Given the description of an element on the screen output the (x, y) to click on. 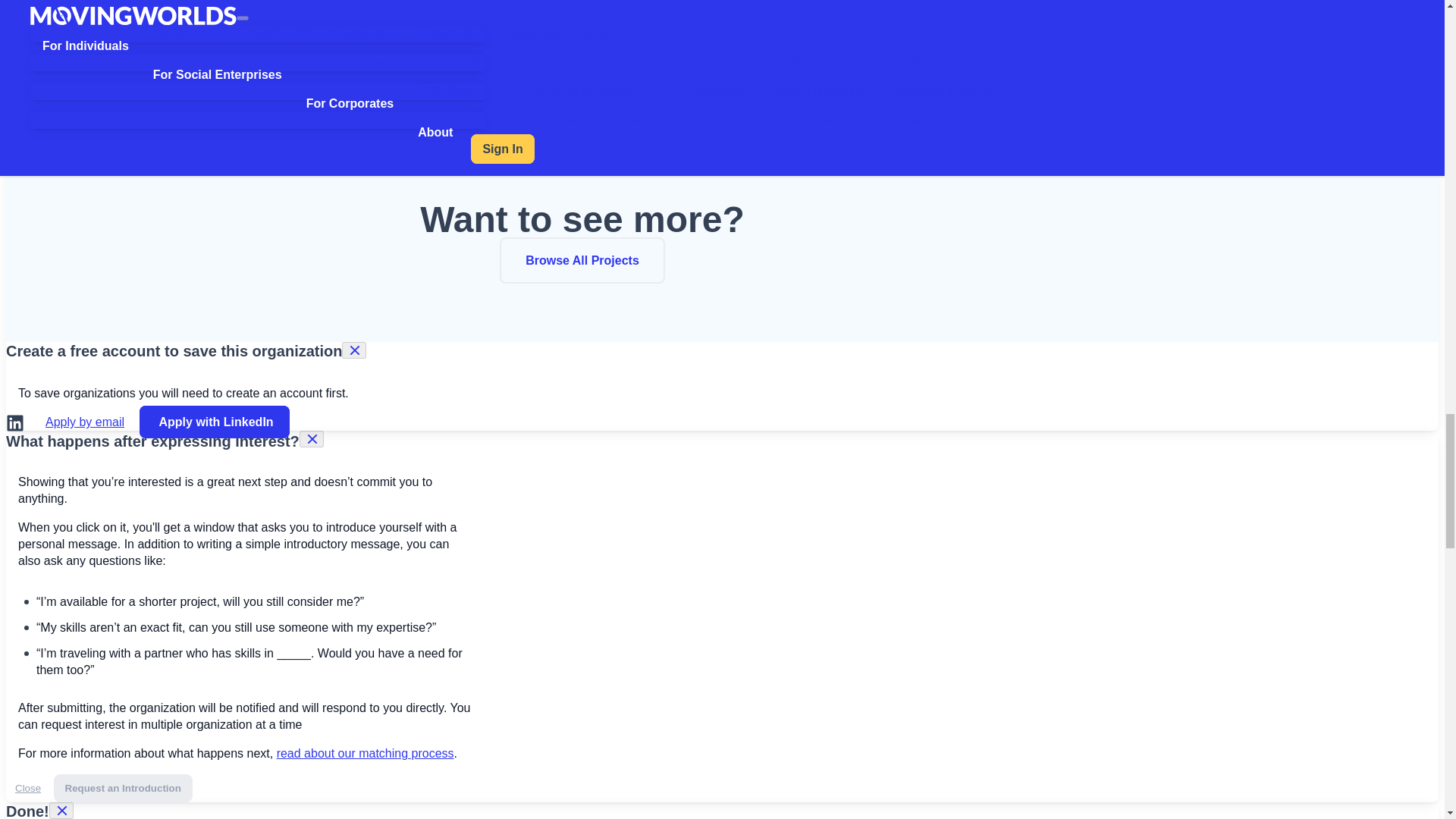
Close (27, 787)
LinkedIn (14, 423)
Request an Introduction (122, 787)
Browse All Projects (582, 260)
Apply by email (84, 421)
Apply with LinkedIn (214, 421)
read about our matching process (365, 753)
